Given the description of an element on the screen output the (x, y) to click on. 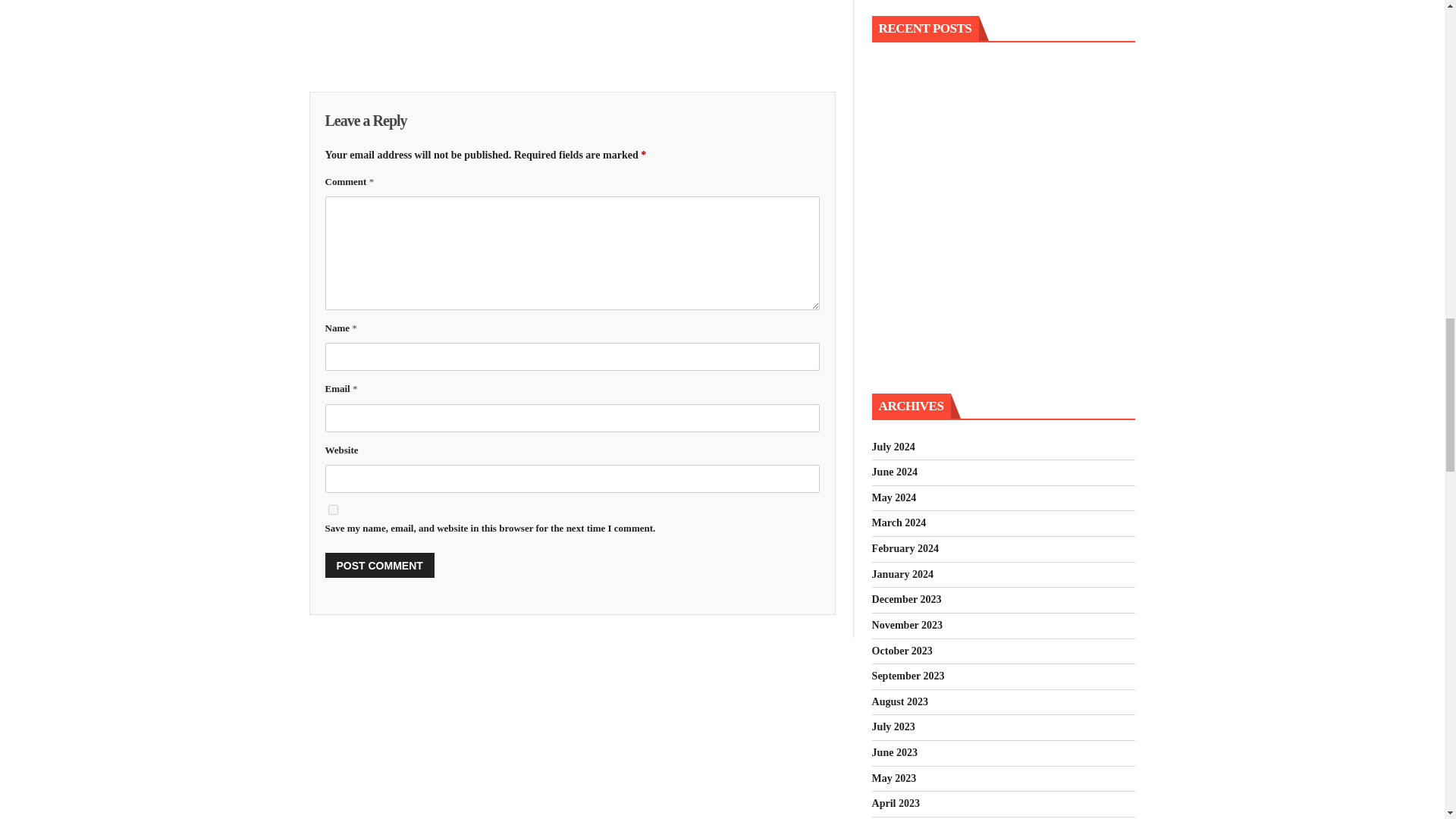
Post Comment (378, 565)
yes (332, 510)
